Given the description of an element on the screen output the (x, y) to click on. 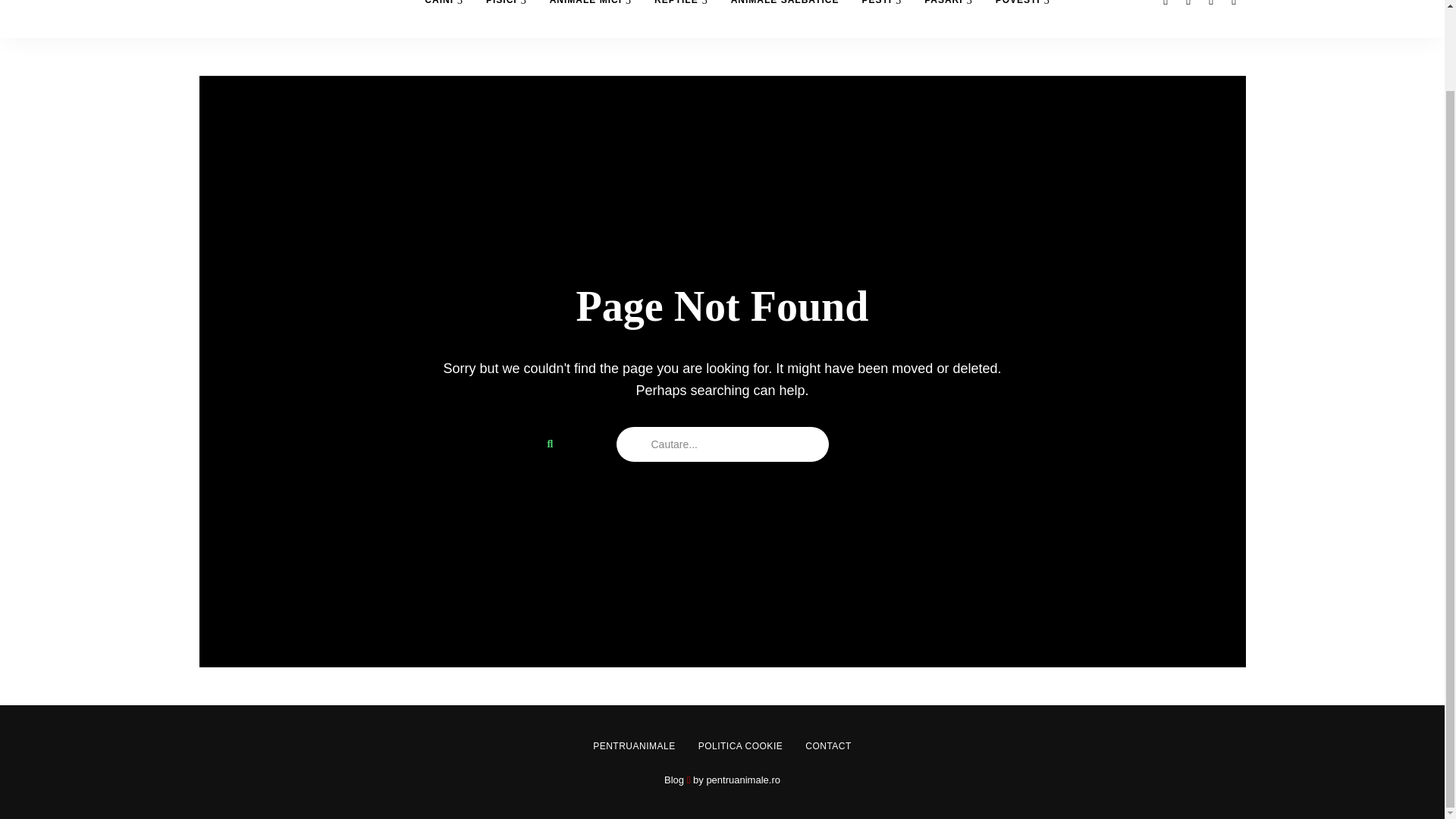
REPTILE (681, 18)
CAINI (443, 18)
ANIMALE MICI (590, 18)
POVESTI (1022, 18)
ANIMALE SALBATICE (784, 18)
PASARI (948, 18)
PESTI (881, 18)
PISICI (506, 18)
